Given the description of an element on the screen output the (x, y) to click on. 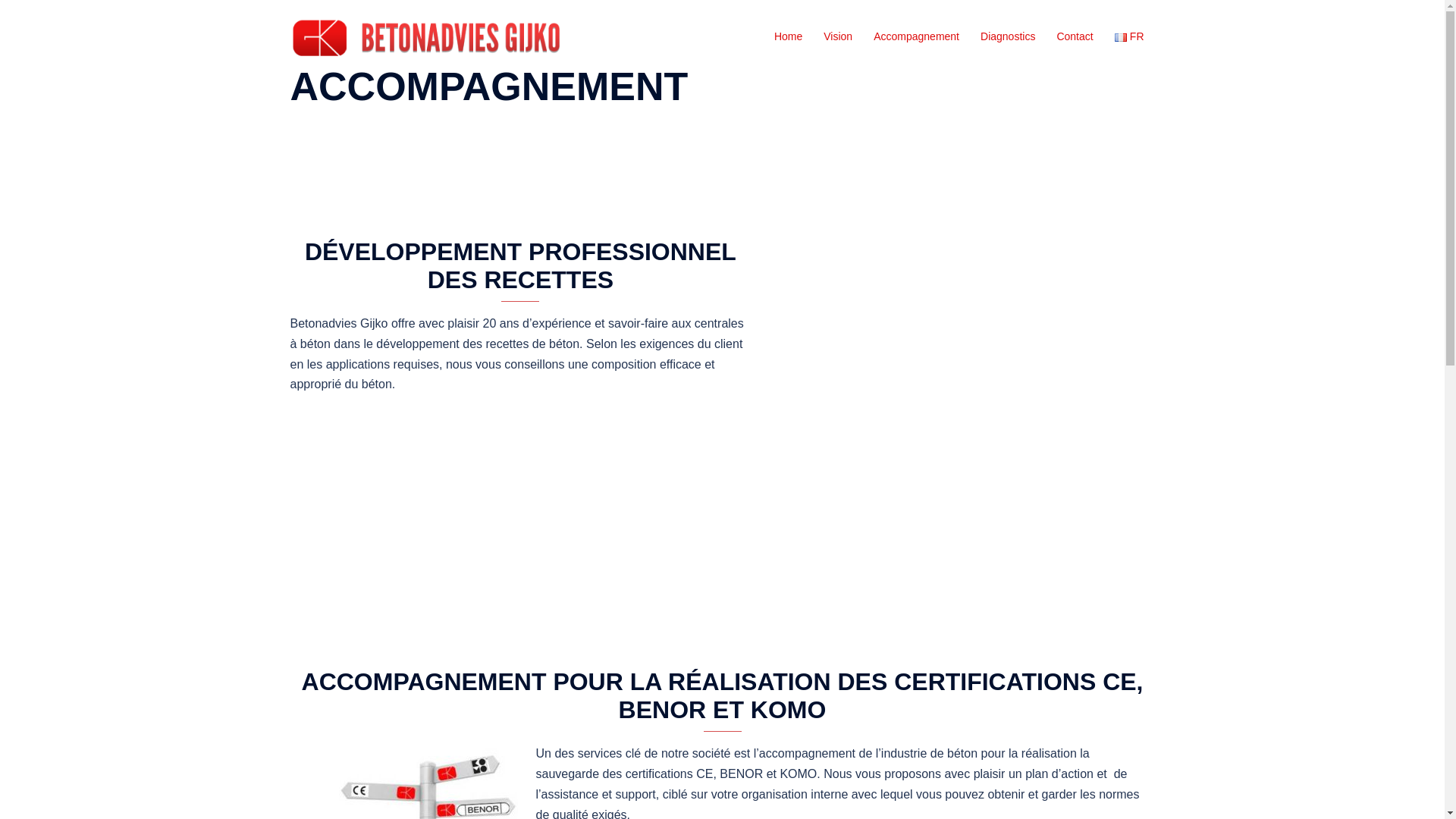
Accompagnement Element type: text (916, 37)
FR Element type: text (1129, 37)
Vision Element type: text (837, 37)
Contact Element type: text (1074, 37)
Diagnostics Element type: text (1007, 37)
Home Element type: text (788, 37)
Betonadvies Gijko Element type: hover (425, 35)
